Given the description of an element on the screen output the (x, y) to click on. 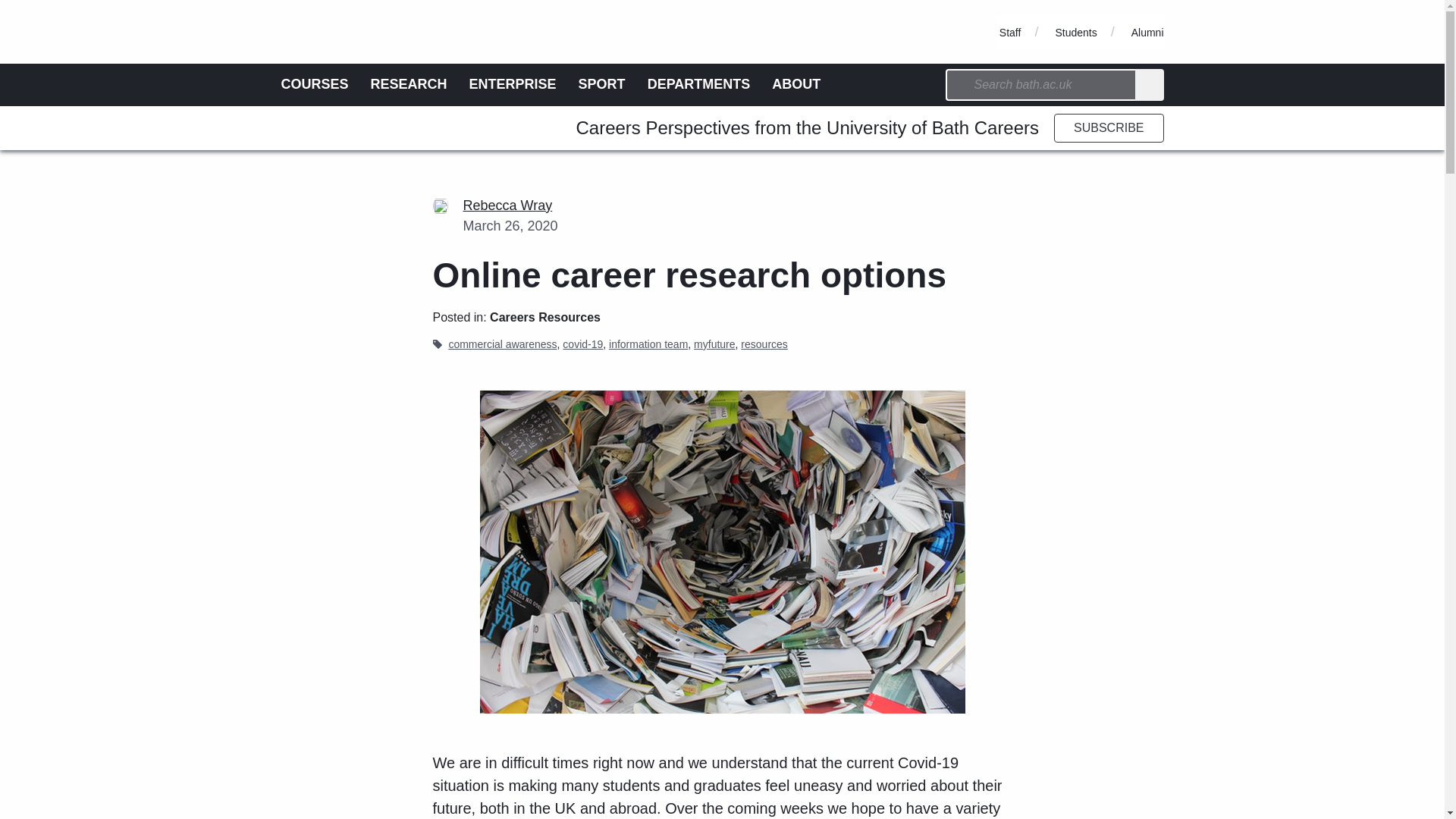
Staff (1010, 32)
commercial awareness (502, 344)
Students (1075, 32)
SPORT (602, 83)
resources (764, 344)
RESEARCH (408, 83)
ABOUT (796, 83)
DEPARTMENTS (699, 83)
Search (1149, 84)
COURSES (314, 83)
Alumni (1147, 32)
SUBSCRIBE (1108, 127)
Search (1149, 84)
Careers Resources (544, 317)
University of Bath (348, 6)
